Given the description of an element on the screen output the (x, y) to click on. 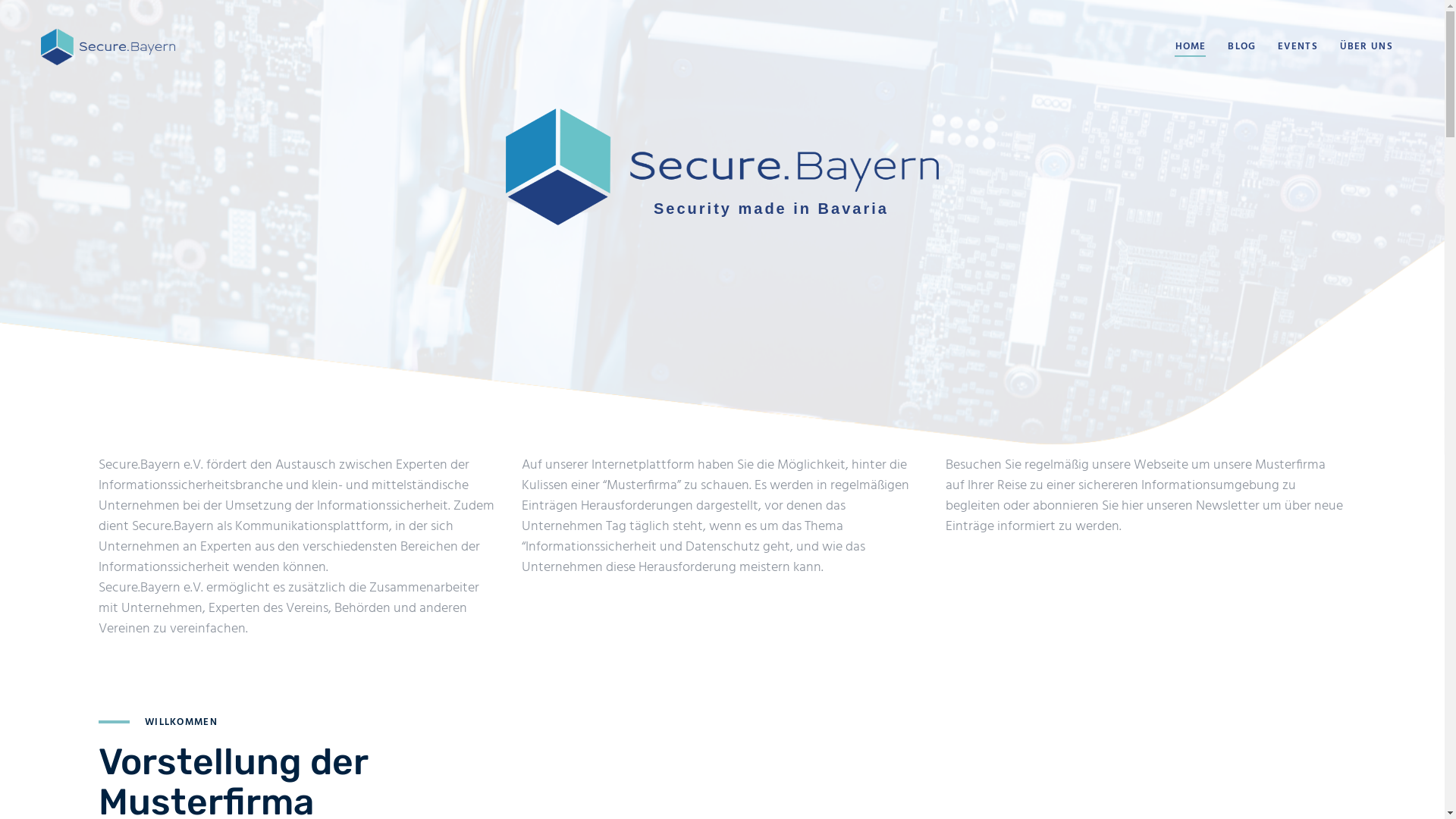
EVENTS Element type: text (1297, 46)
HOME Element type: text (1190, 46)
BLOG Element type: text (1242, 46)
